Given the description of an element on the screen output the (x, y) to click on. 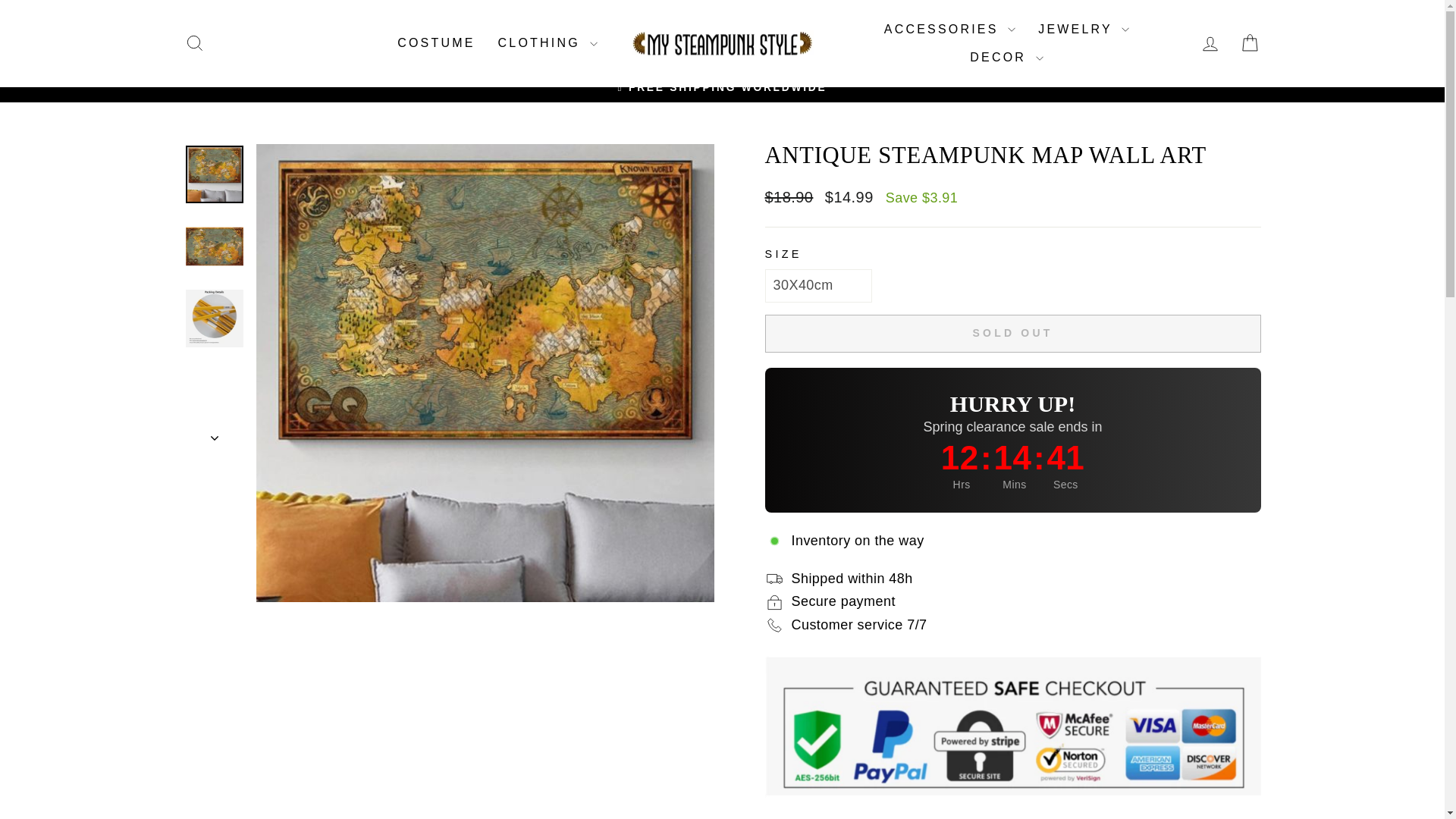
icon-chevron (214, 437)
ICON-SEARCH (194, 43)
ACCOUNT (1210, 43)
